Given the description of an element on the screen output the (x, y) to click on. 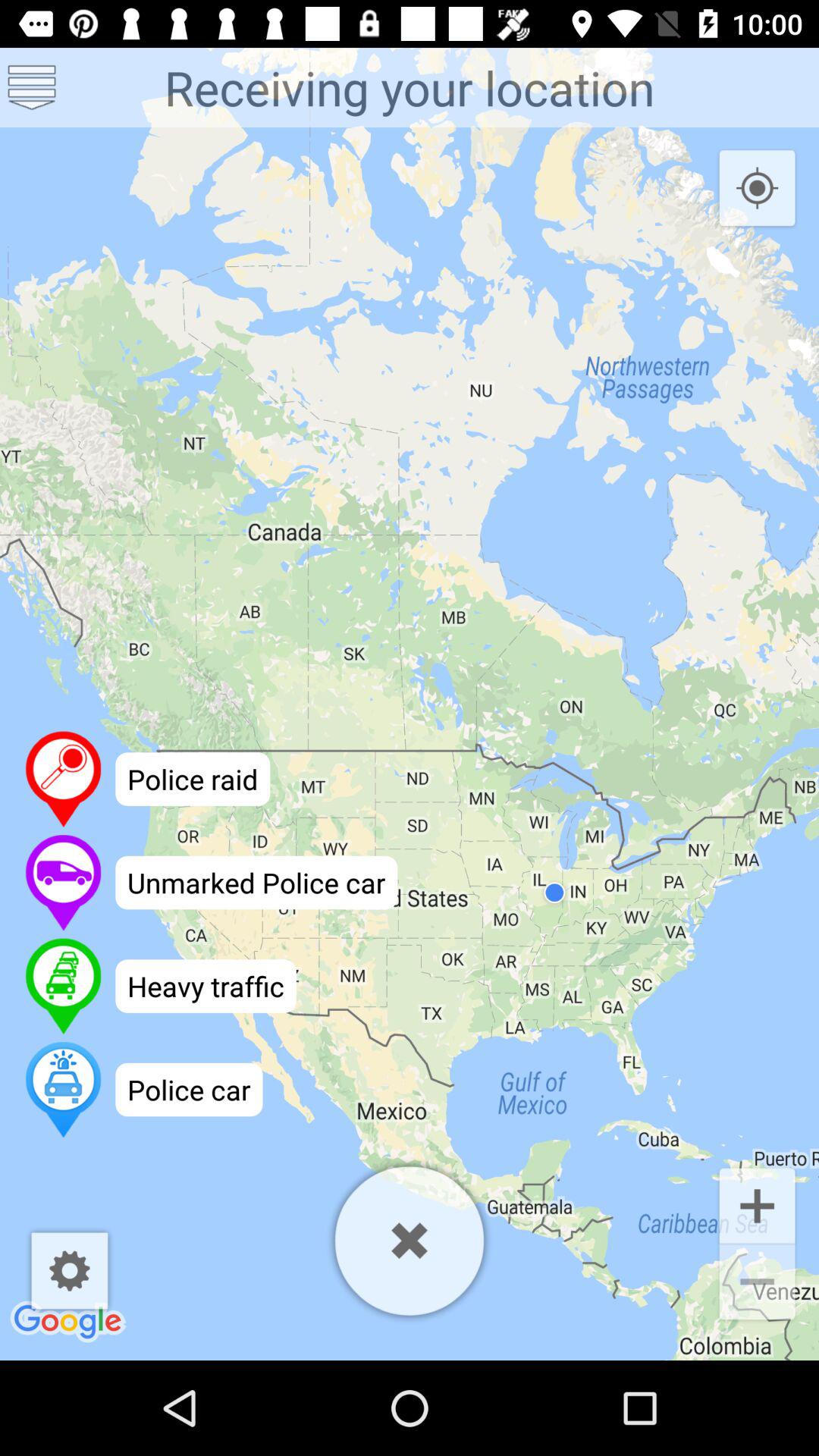
see more options (31, 87)
